Given the description of an element on the screen output the (x, y) to click on. 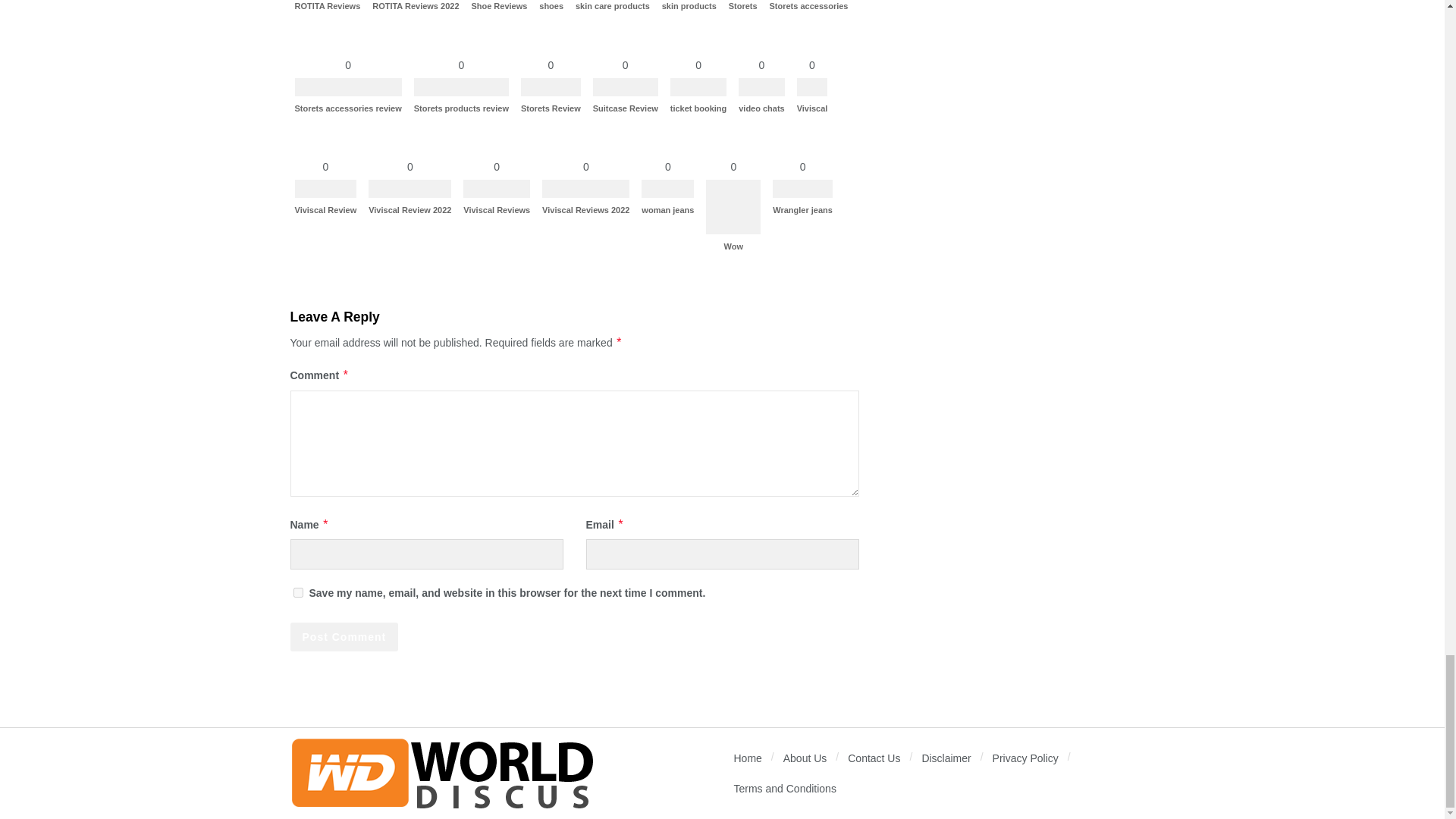
Post Comment (343, 636)
yes (297, 592)
